Given the description of an element on the screen output the (x, y) to click on. 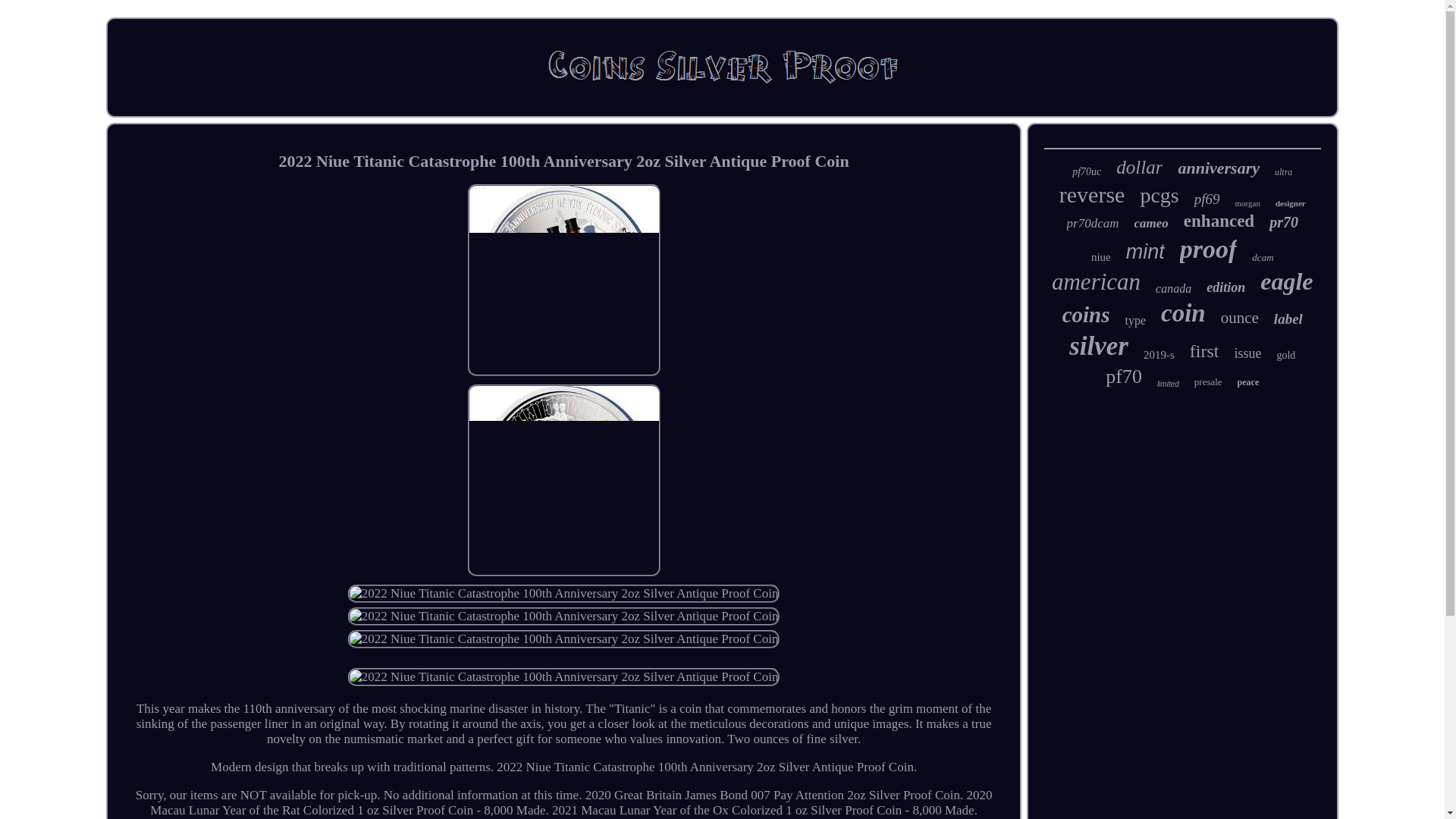
enhanced (1218, 220)
edition (1225, 287)
designer (1290, 203)
silver (1098, 346)
eagle (1286, 281)
pf70uc (1085, 172)
pr70 (1283, 221)
